Given the description of an element on the screen output the (x, y) to click on. 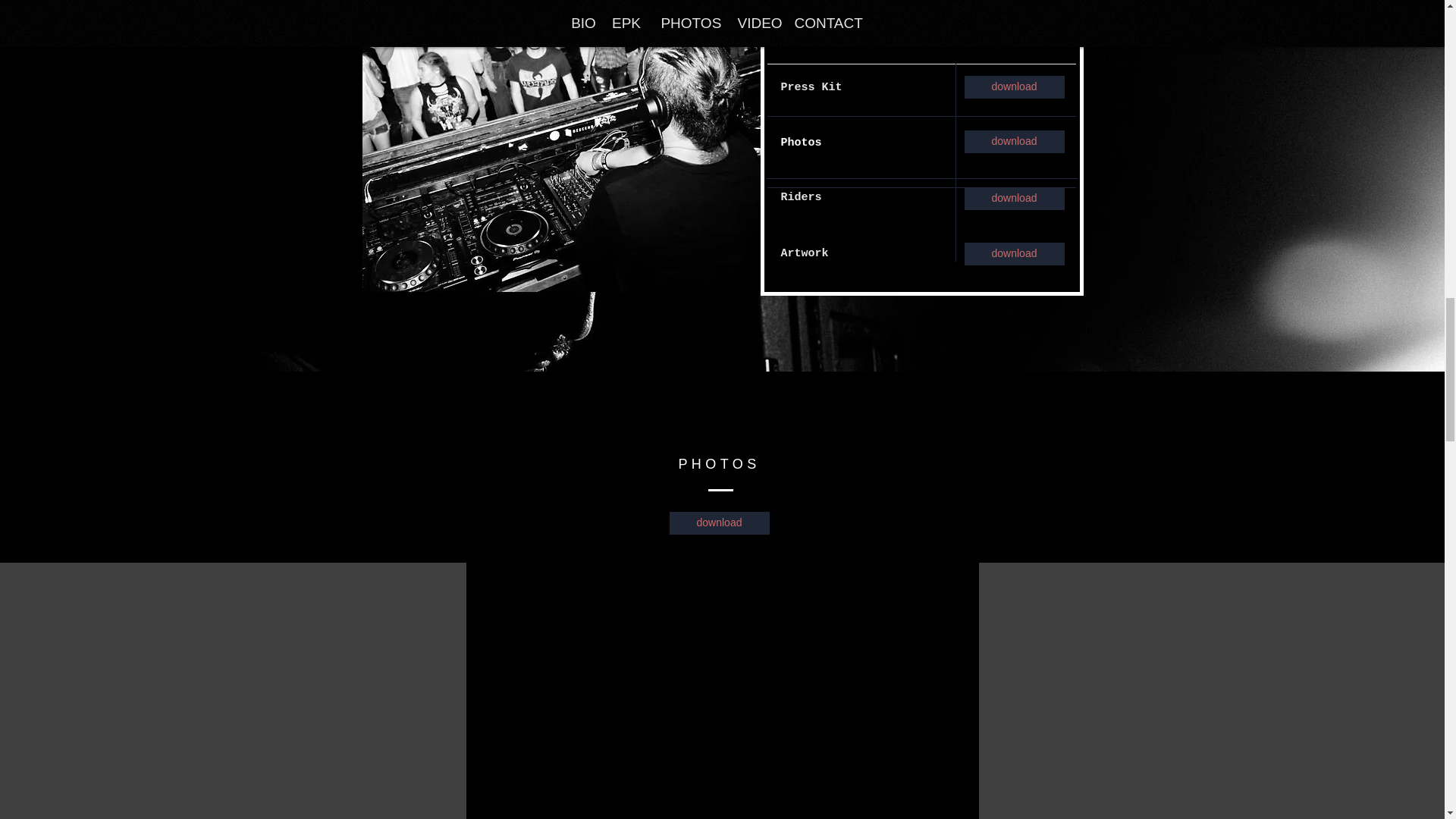
download (1013, 198)
download (1013, 253)
download (1013, 87)
download (718, 522)
dj markowicz (571, 145)
download (1013, 141)
